Given the description of an element on the screen output the (x, y) to click on. 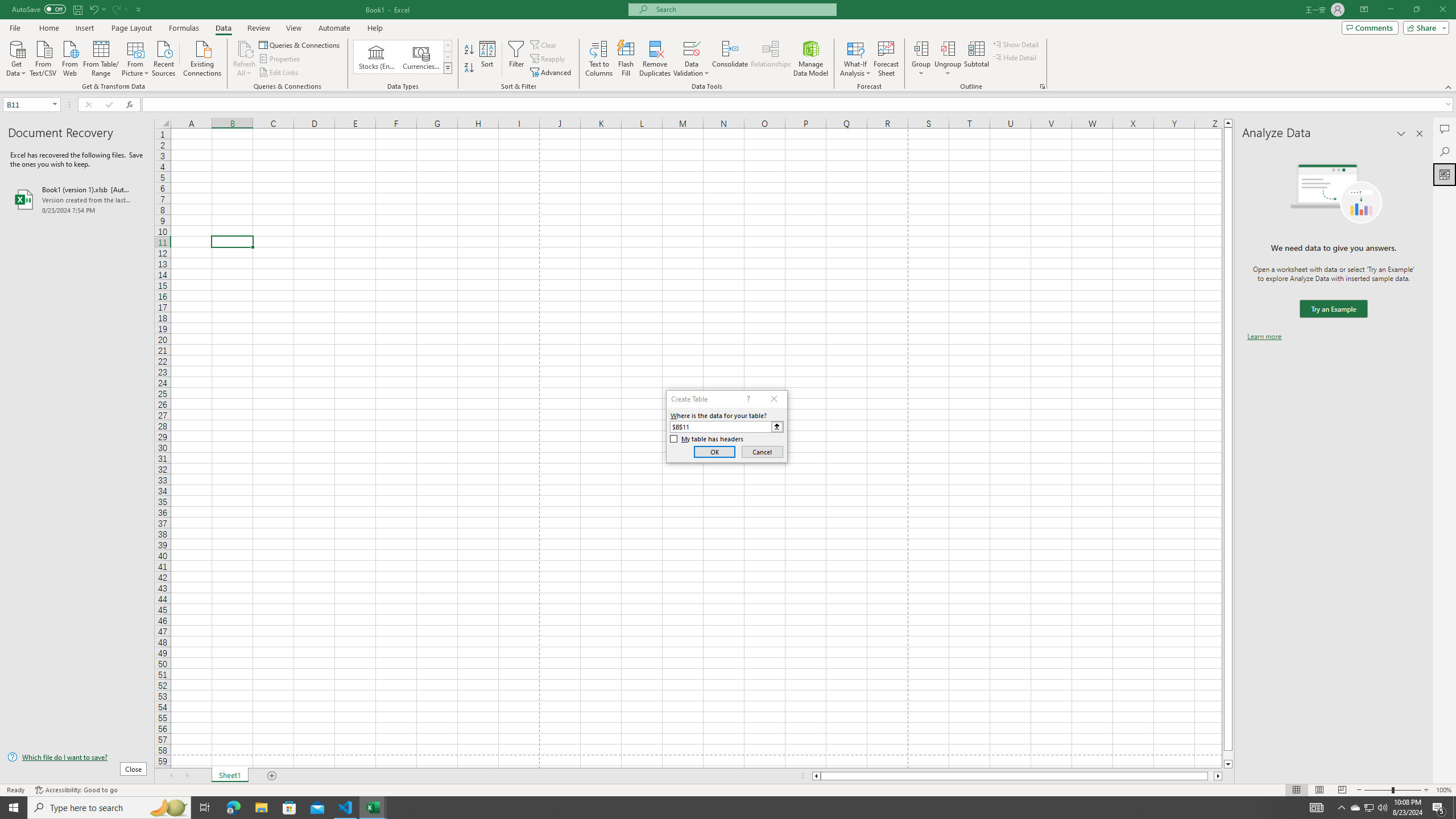
Consolidate... (729, 58)
From Picture (135, 57)
